Given the description of an element on the screen output the (x, y) to click on. 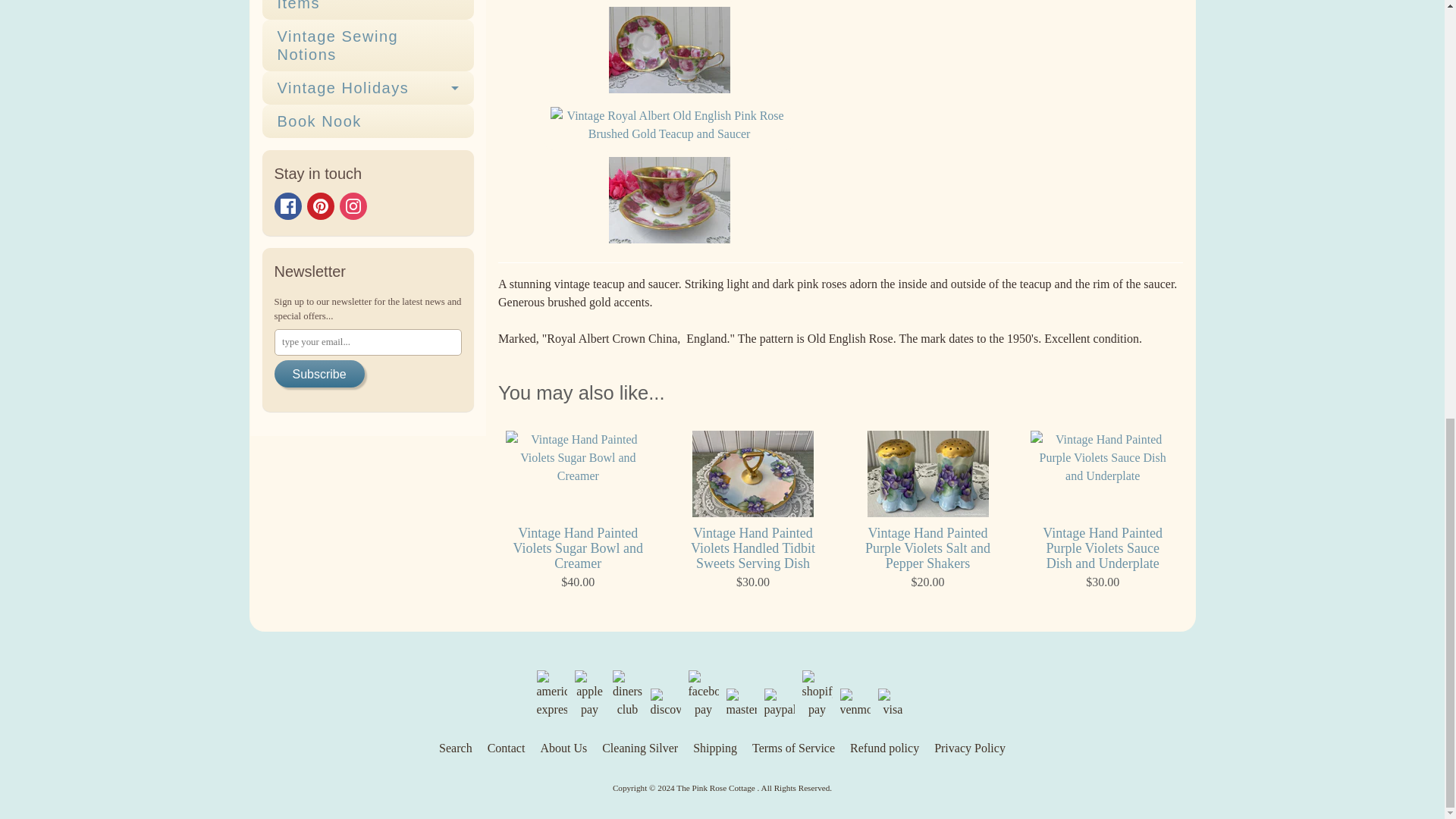
Pinterest (319, 206)
Facebook (288, 206)
Vintage Hand Painted Purple Violets Salt and Pepper Shakers (927, 511)
Vintage Hand Painted Violets Sugar Bowl and Creamer (577, 511)
Instagram (352, 206)
